Given the description of an element on the screen output the (x, y) to click on. 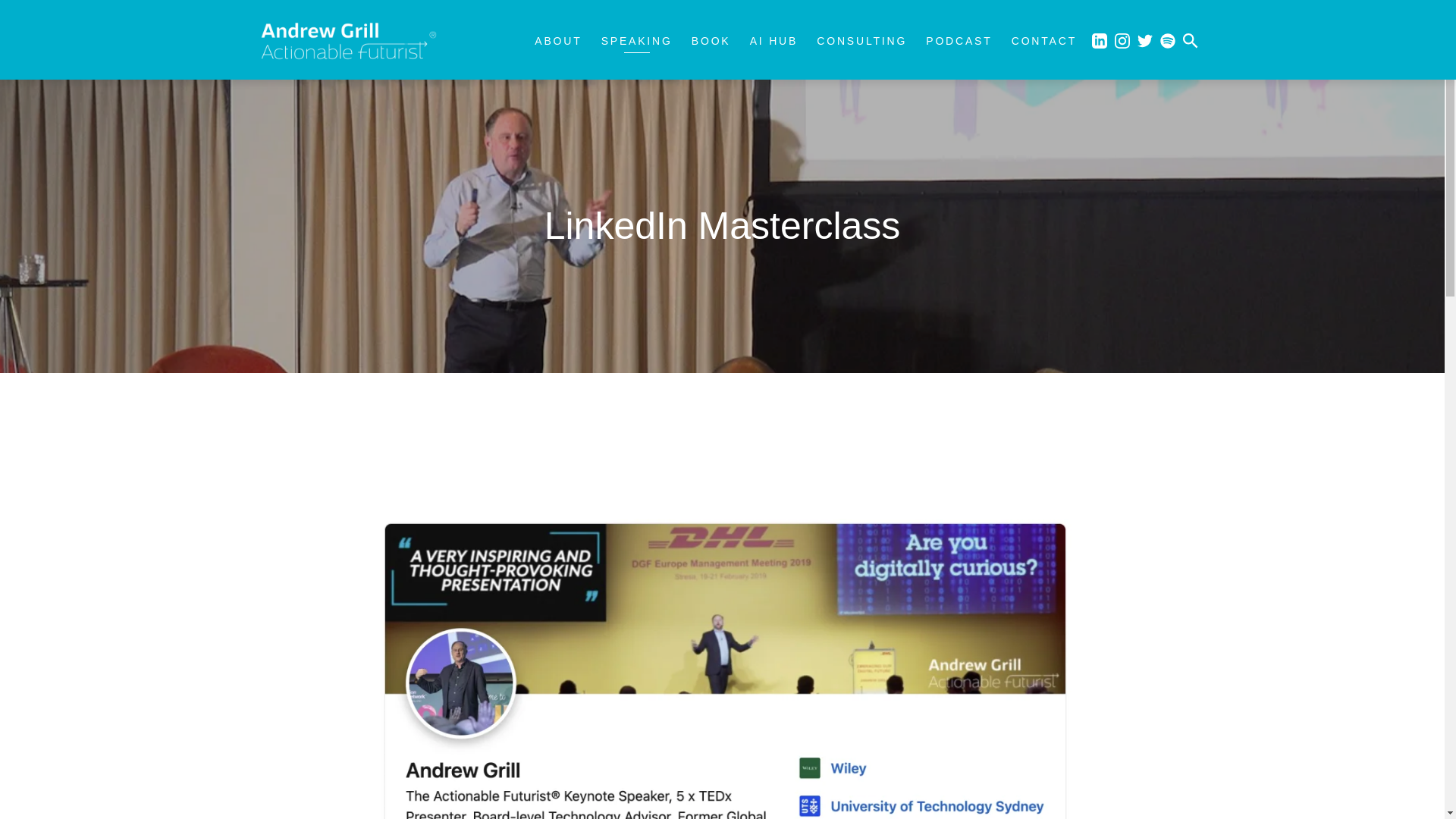
PODCAST (958, 41)
Show Search (1190, 39)
ABOUT (557, 41)
CONSULTING (861, 41)
CONTACT (1044, 41)
SPEAKING (636, 41)
BOOK (710, 41)
AI HUB (773, 41)
